Given the description of an element on the screen output the (x, y) to click on. 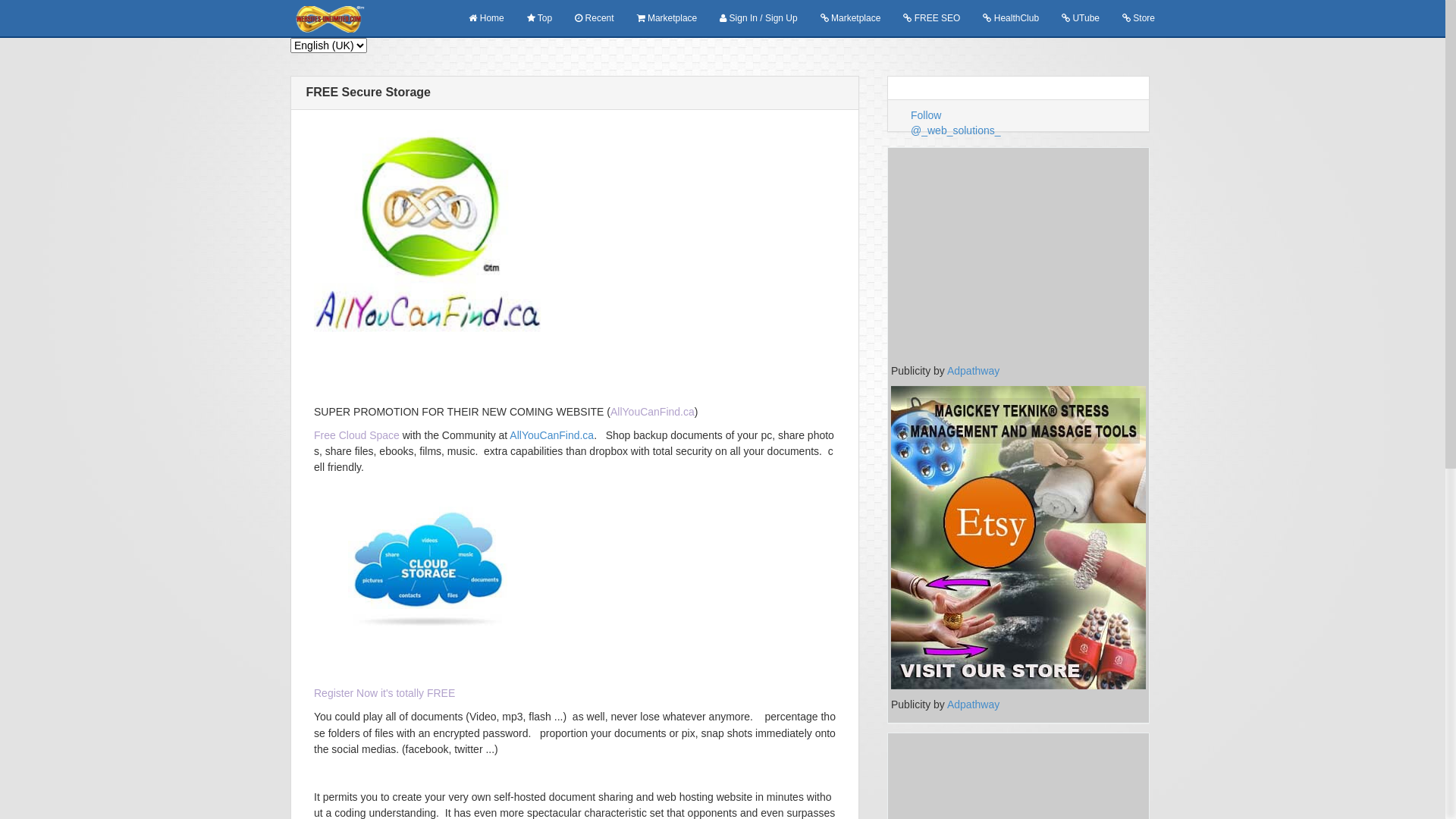
Recent Element type: text (593, 18)
UTube Element type: text (1080, 18)
Free Cloud Space Element type: text (356, 435)
Visit our Wellness Boutique online NOW Element type: hover (1018, 537)
Advertisement Element type: hover (1018, 256)
Marketplace Element type: text (850, 18)
Adpathway Element type: text (973, 370)
Adpathway Element type: text (973, 704)
Your Online One Stop Shop Community Node! Element type: hover (427, 234)
Store Element type: text (1138, 18)
HealthClub Element type: text (1010, 18)
Marketplace Element type: text (667, 18)
Top Element type: text (539, 18)
Home Element type: text (485, 18)
AllYouCanFind.ca Element type: text (551, 435)
Follow @_web_solutions_ Element type: text (955, 122)
Sign In / Sign Up Element type: text (758, 18)
AllYouCanFind.ca Element type: text (652, 410)
FREE SEO Element type: text (931, 18)
Register Now it's totally FREE Element type: text (384, 693)
